Given the description of an element on the screen output the (x, y) to click on. 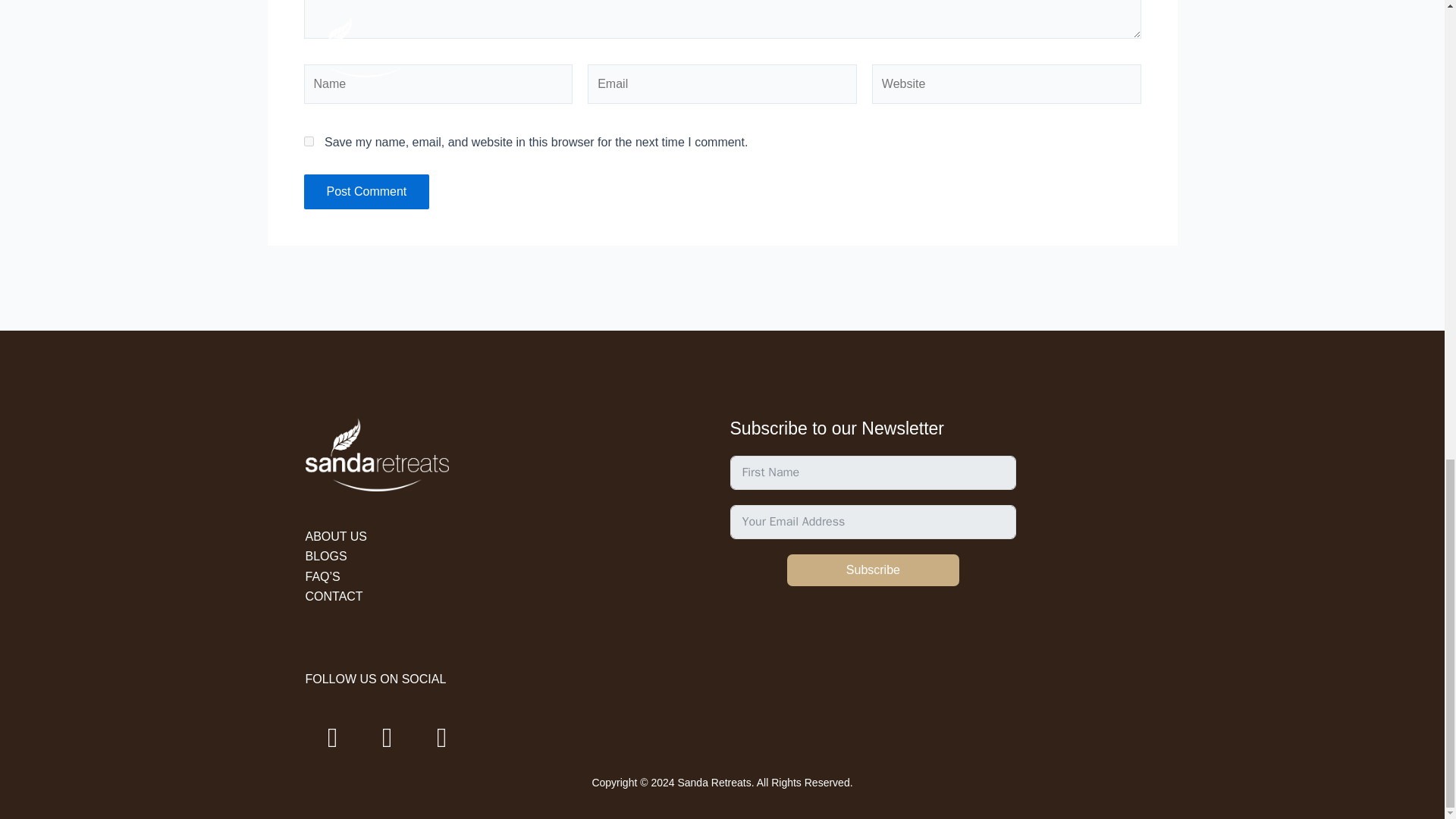
Post Comment (365, 191)
ABOUT US (335, 535)
Post Comment (365, 191)
CONTACT (333, 595)
Facebook (331, 737)
Instagram (440, 737)
BLOGS (325, 555)
yes (307, 141)
Subscribe (873, 570)
Twitter (386, 737)
